Given the description of an element on the screen output the (x, y) to click on. 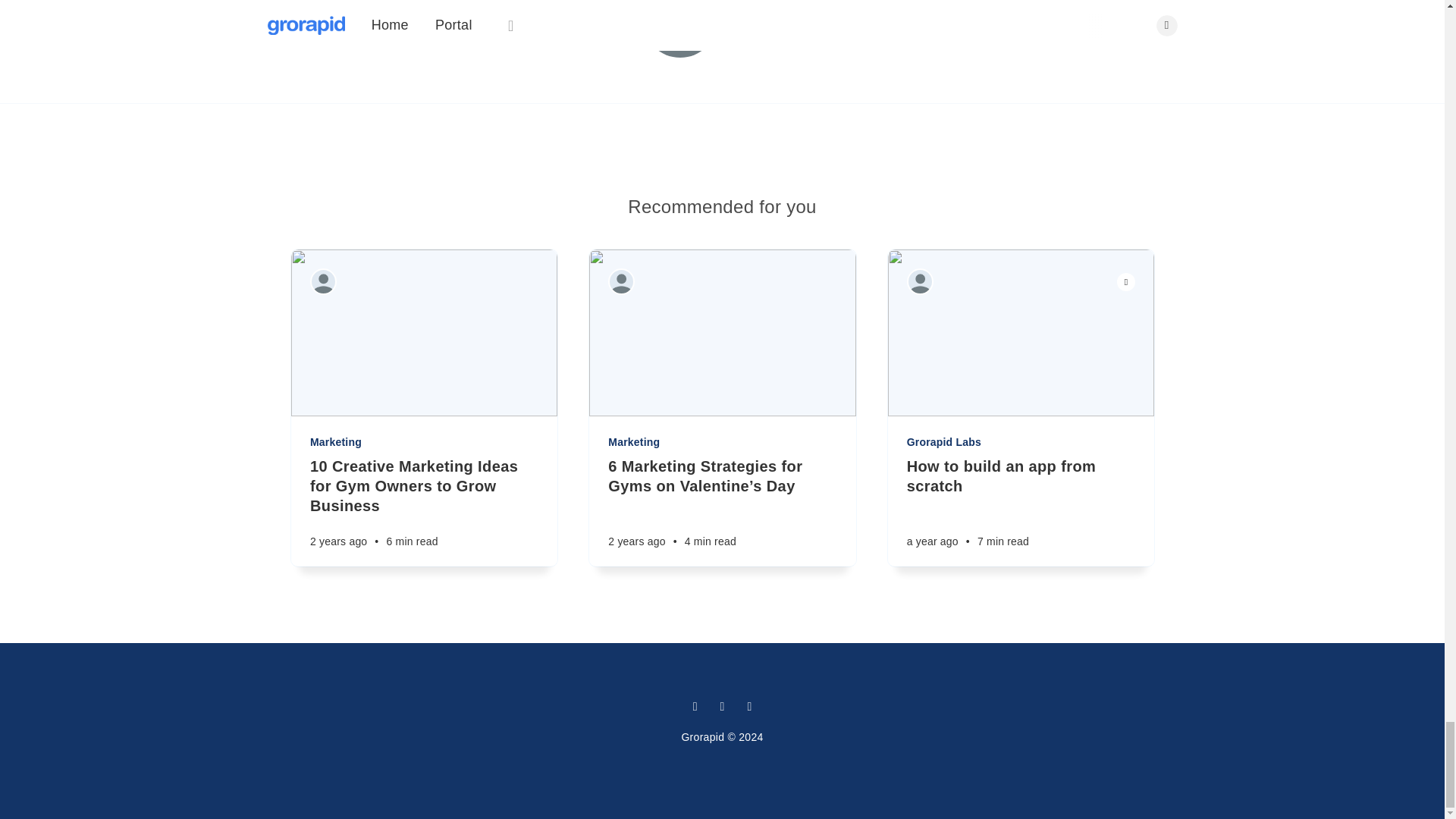
How to build an app from scratch (1019, 476)
Grorapid (771, 13)
10 Creative Marketing Ideas for Gym Owners to Grow Business (422, 485)
